Given the description of an element on the screen output the (x, y) to click on. 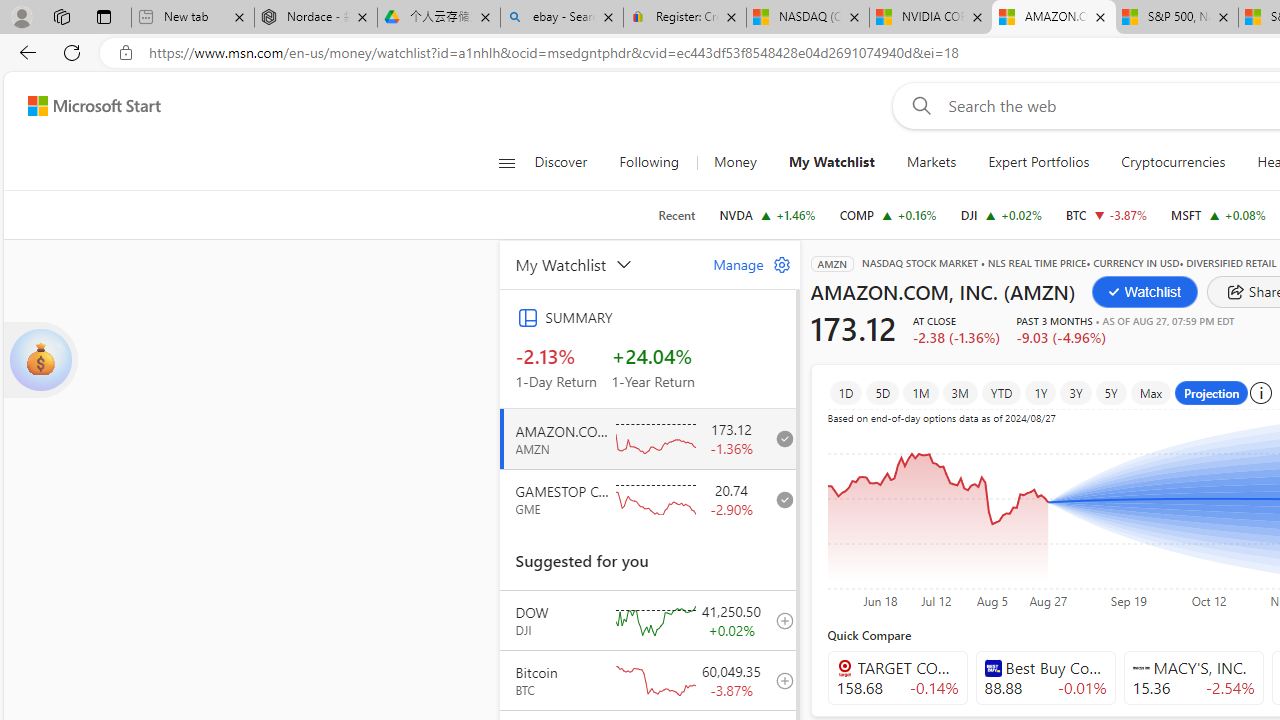
add to your watchlist (779, 680)
Money (735, 162)
COMP NASDAQ increase 17,754.82 +29.06 +0.16% (887, 214)
Money (734, 162)
My Watchlist (601, 264)
Register: Create a personal eBay account (684, 17)
Skip to footer (82, 105)
My Watchlist (830, 162)
My Watchlist (831, 162)
1M (920, 392)
Markets (930, 162)
